Given the description of an element on the screen output the (x, y) to click on. 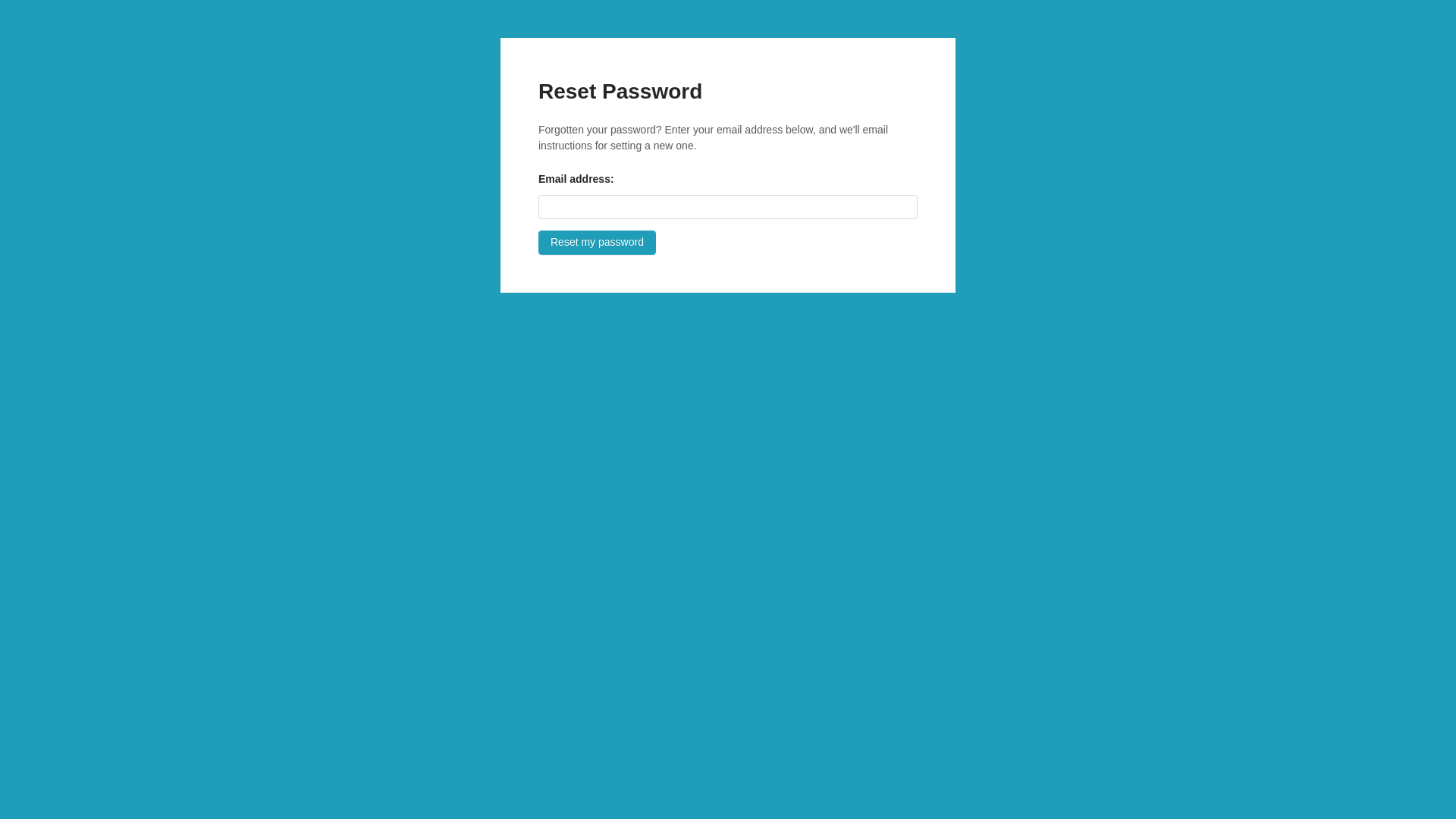
Reset my password Element type: text (596, 242)
